Given the description of an element on the screen output the (x, y) to click on. 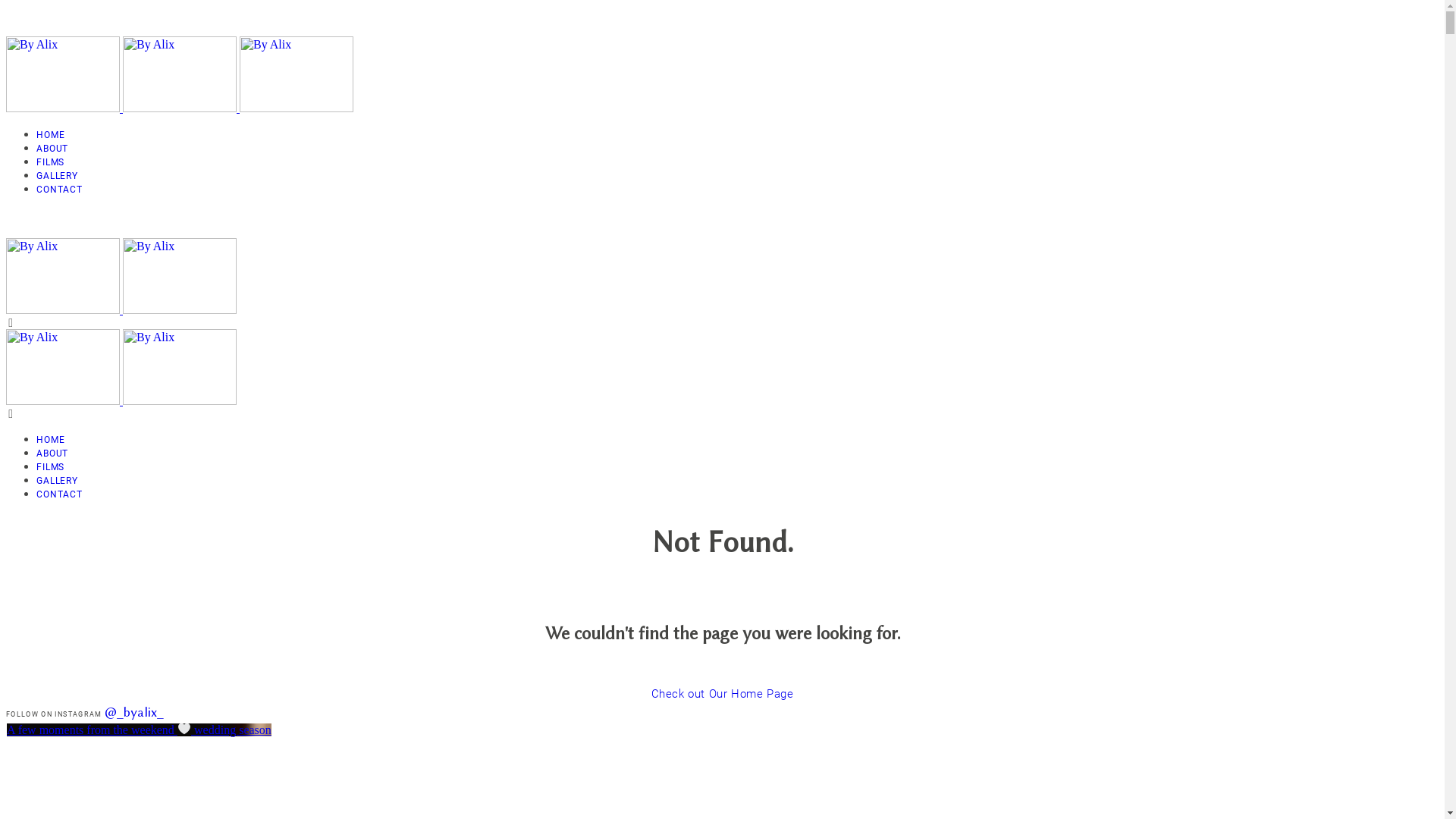
ABOUT Element type: text (52, 148)
HOME Element type: text (50, 134)
@_byalix_ Element type: text (133, 711)
CONTACT Element type: text (59, 189)
FILMS Element type: text (50, 466)
GALLERY Element type: text (57, 175)
CONTACT Element type: text (59, 494)
Check out Our Home Page Element type: text (722, 693)
HOME Element type: text (50, 439)
ABOUT Element type: text (52, 453)
FILMS Element type: text (50, 161)
GALLERY Element type: text (57, 480)
